Given the description of an element on the screen output the (x, y) to click on. 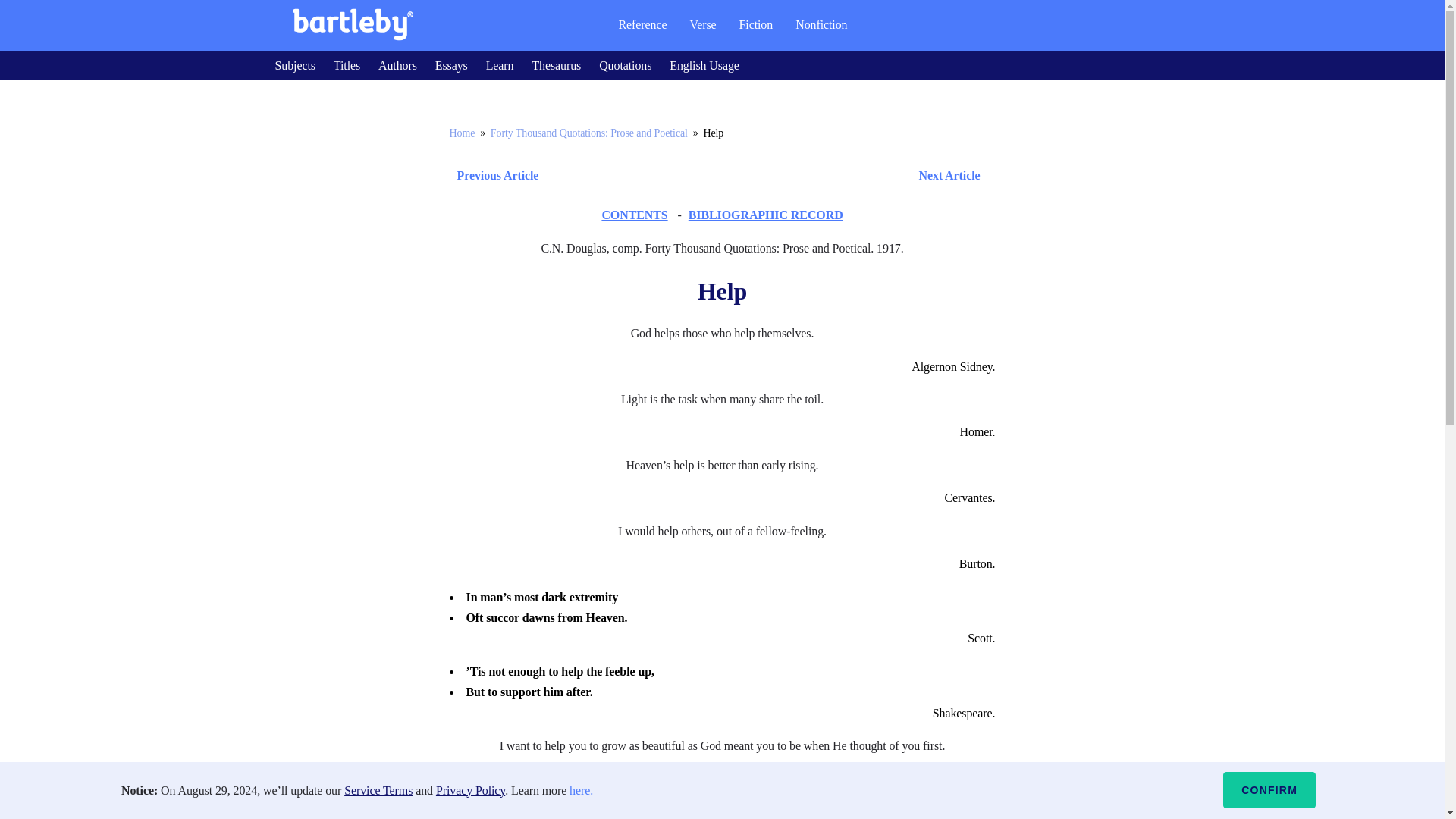
Fiction (756, 24)
Essays (451, 65)
Quotations (624, 65)
Verse (702, 24)
BIBLIOGRAPHIC RECORD (765, 214)
Authors (397, 65)
CONTENTS (633, 214)
Thesaurus (555, 65)
Subjects (294, 65)
Titles (346, 65)
